Given the description of an element on the screen output the (x, y) to click on. 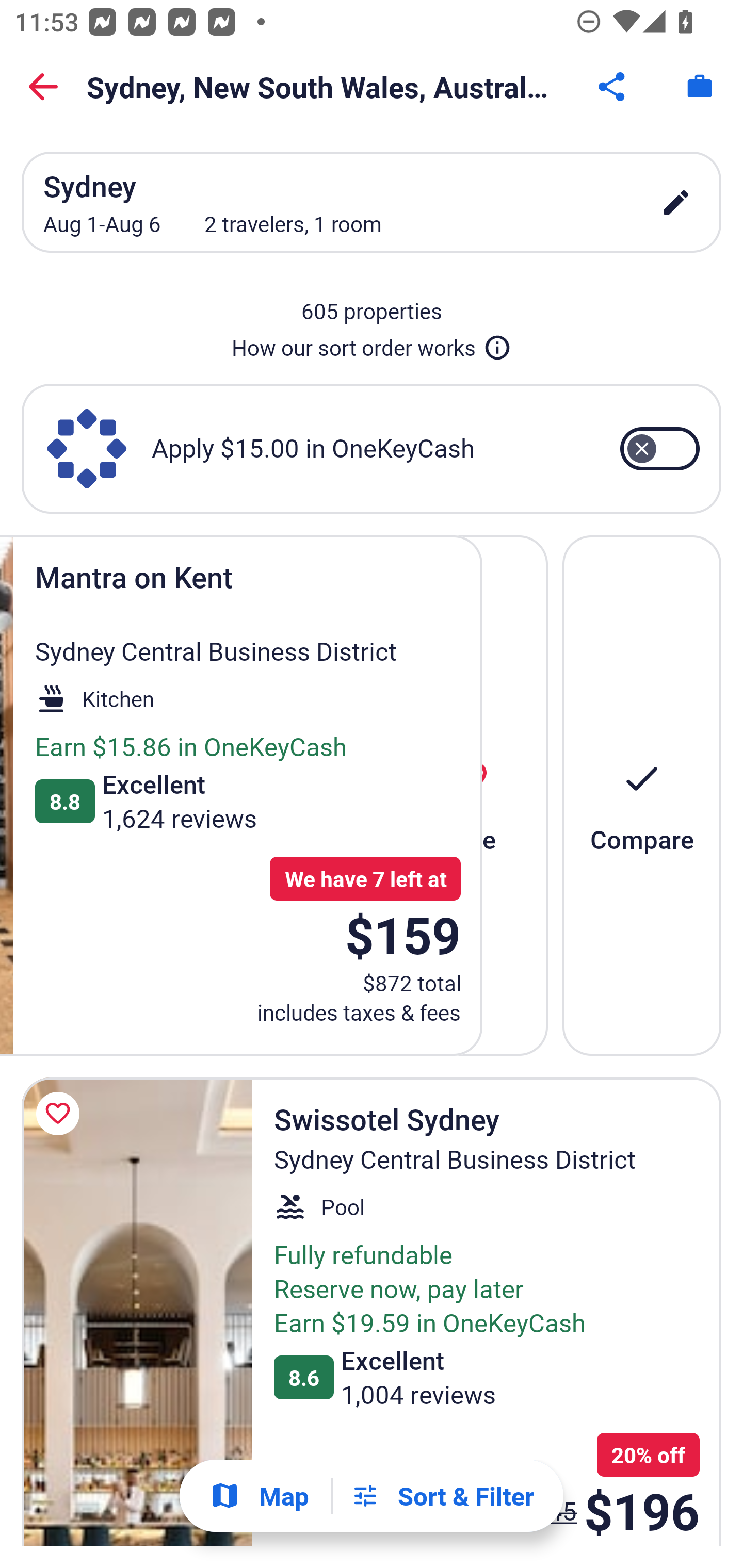
Back (43, 86)
Share Button (612, 86)
Trips. Button (699, 86)
Sydney Aug 1-Aug 6 2 travelers, 1 room edit (371, 202)
How our sort order works (371, 344)
Compare (641, 794)
Save Swissotel Sydney to a trip (61, 1113)
Swissotel Sydney (136, 1311)
Filters Sort & Filter Filters Button (442, 1495)
Show map Map Show map Button (258, 1495)
